Given the description of an element on the screen output the (x, y) to click on. 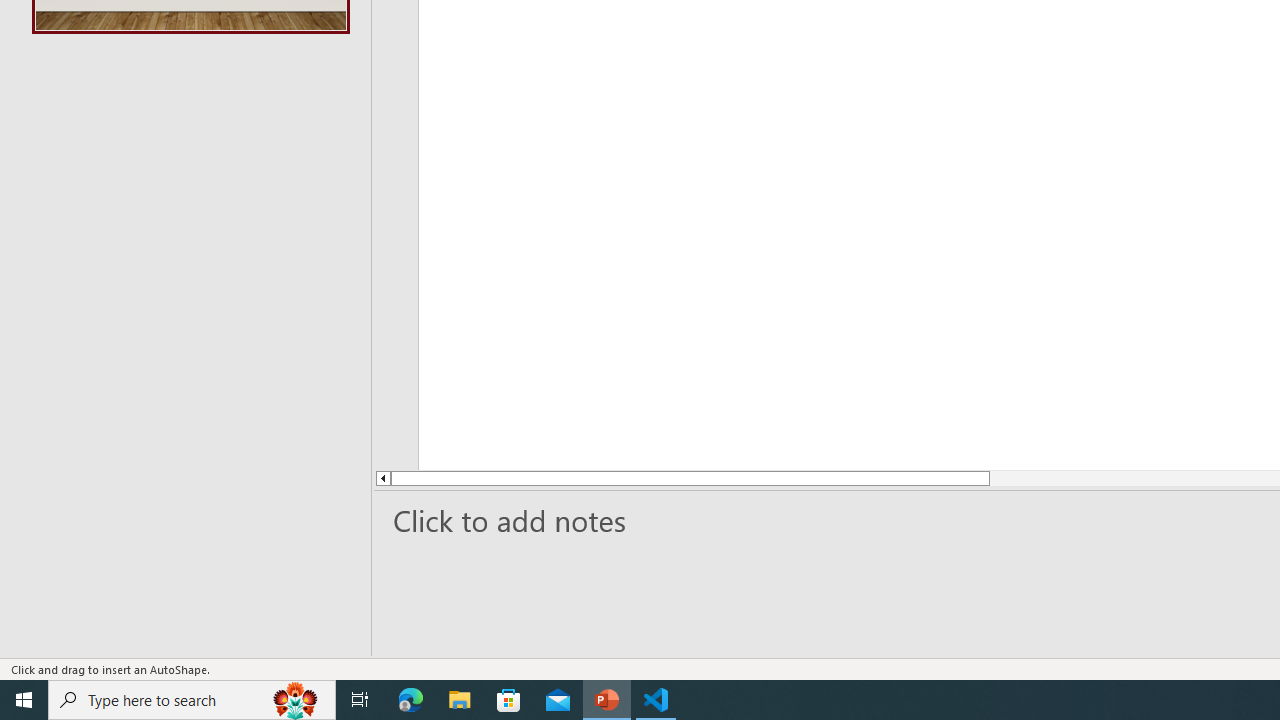
Line up (381, 478)
